Given the description of an element on the screen output the (x, y) to click on. 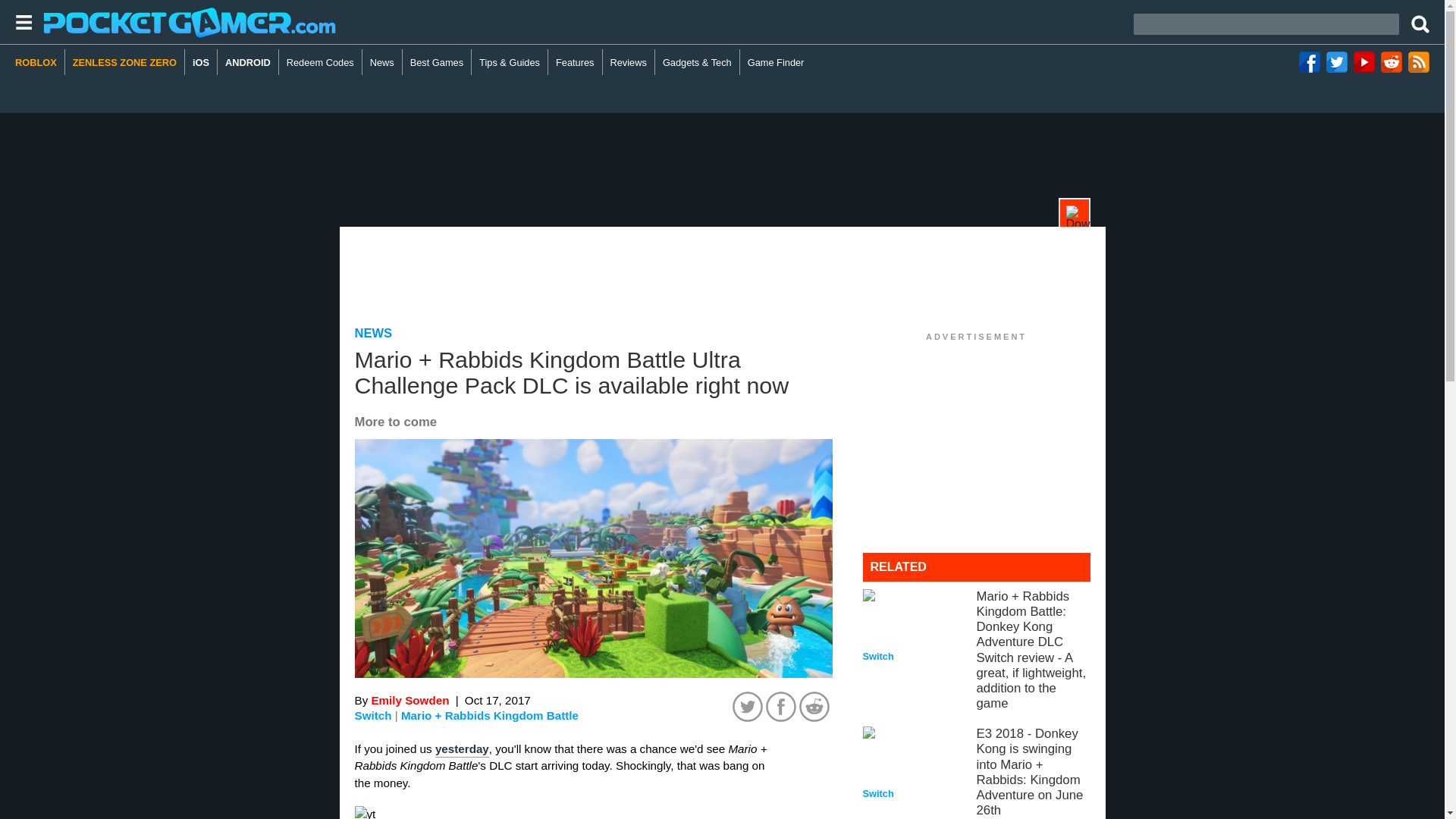
NEWS (374, 332)
Best Games (437, 62)
Redeem Codes (320, 62)
Game Finder (775, 62)
ANDROID (247, 62)
iOS (200, 62)
News (382, 62)
ZENLESS ZONE ZERO (124, 62)
Features (575, 62)
yesterday (462, 749)
Emily Sowden (409, 699)
Reviews (628, 62)
ROBLOX (39, 62)
Switch (373, 715)
